Given the description of an element on the screen output the (x, y) to click on. 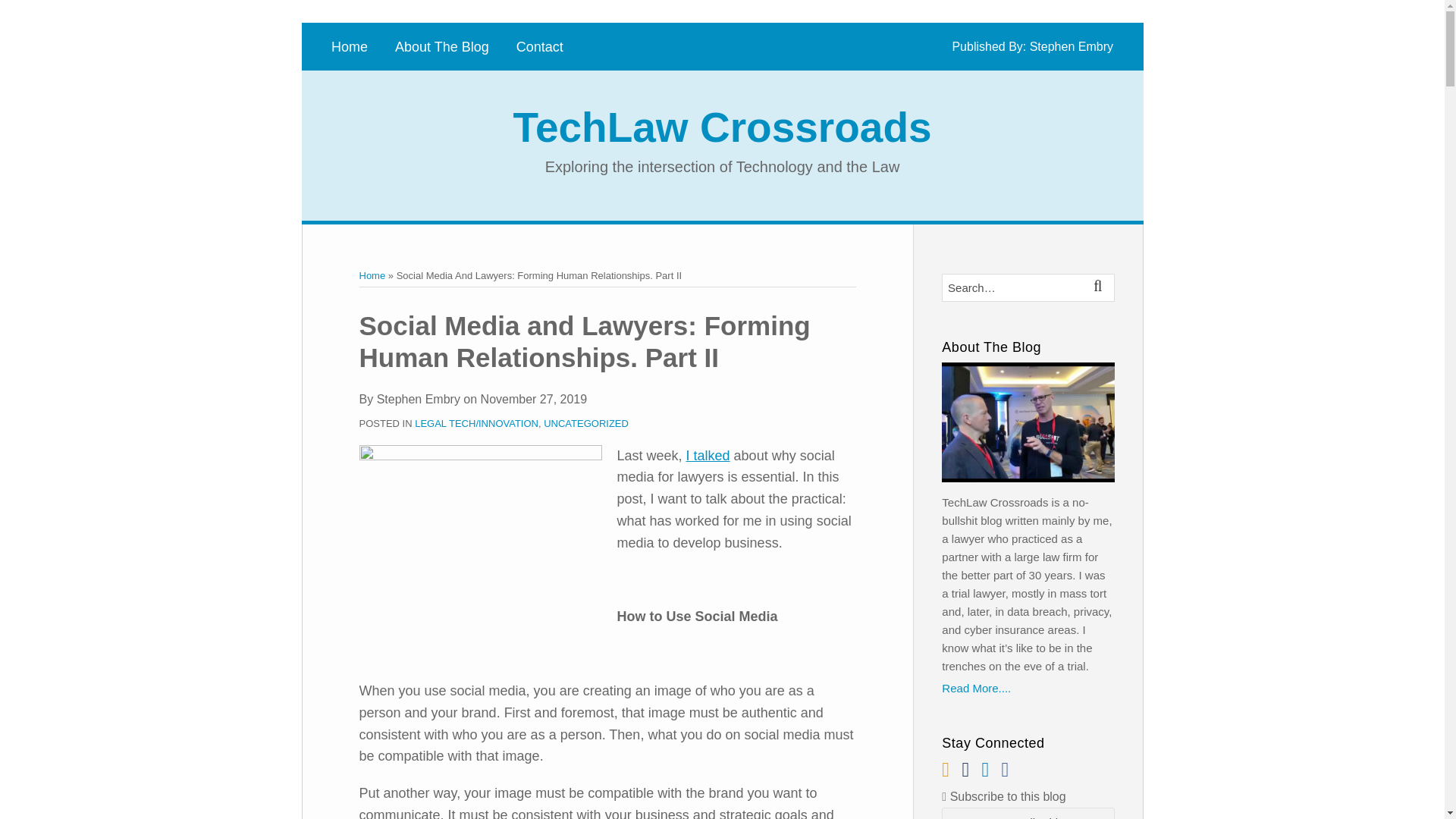
About The Blog (441, 46)
TechLaw Crossroads (721, 127)
I talked (707, 455)
Home (349, 46)
Home (372, 275)
Contact (539, 46)
Stephen Embry (1071, 46)
UNCATEGORIZED (585, 423)
